Given the description of an element on the screen output the (x, y) to click on. 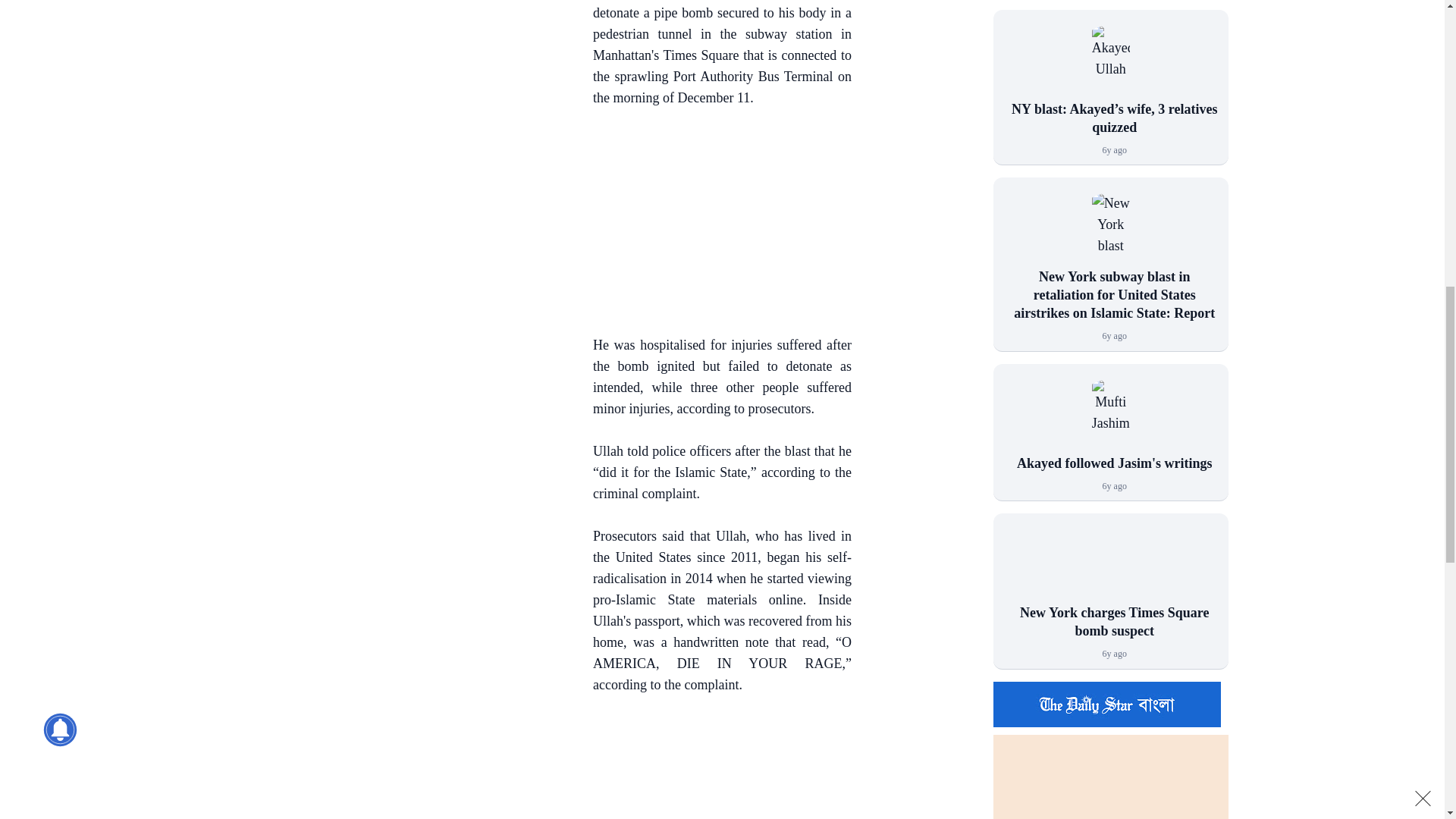
Akayed Ullah (1110, 62)
3rd party ad content (332, 12)
3rd party ad content (713, 767)
3rd party ad content (713, 224)
3rd party ad content (332, 135)
